Given the description of an element on the screen output the (x, y) to click on. 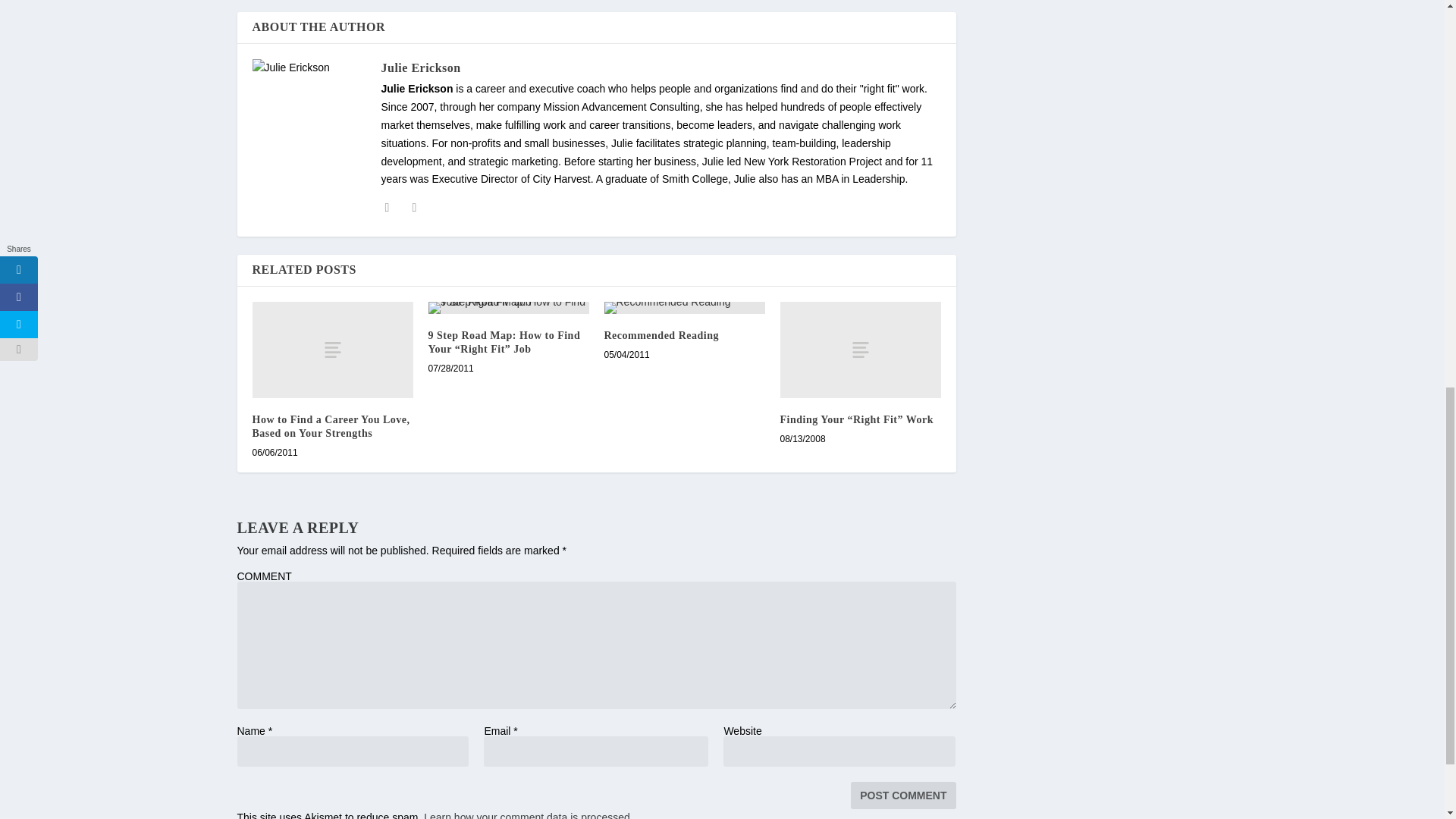
View all posts by Julie Erickson (420, 67)
How to Find a Career You Love, Based on Your Strengths (331, 350)
Post Comment (902, 795)
